Given the description of an element on the screen output the (x, y) to click on. 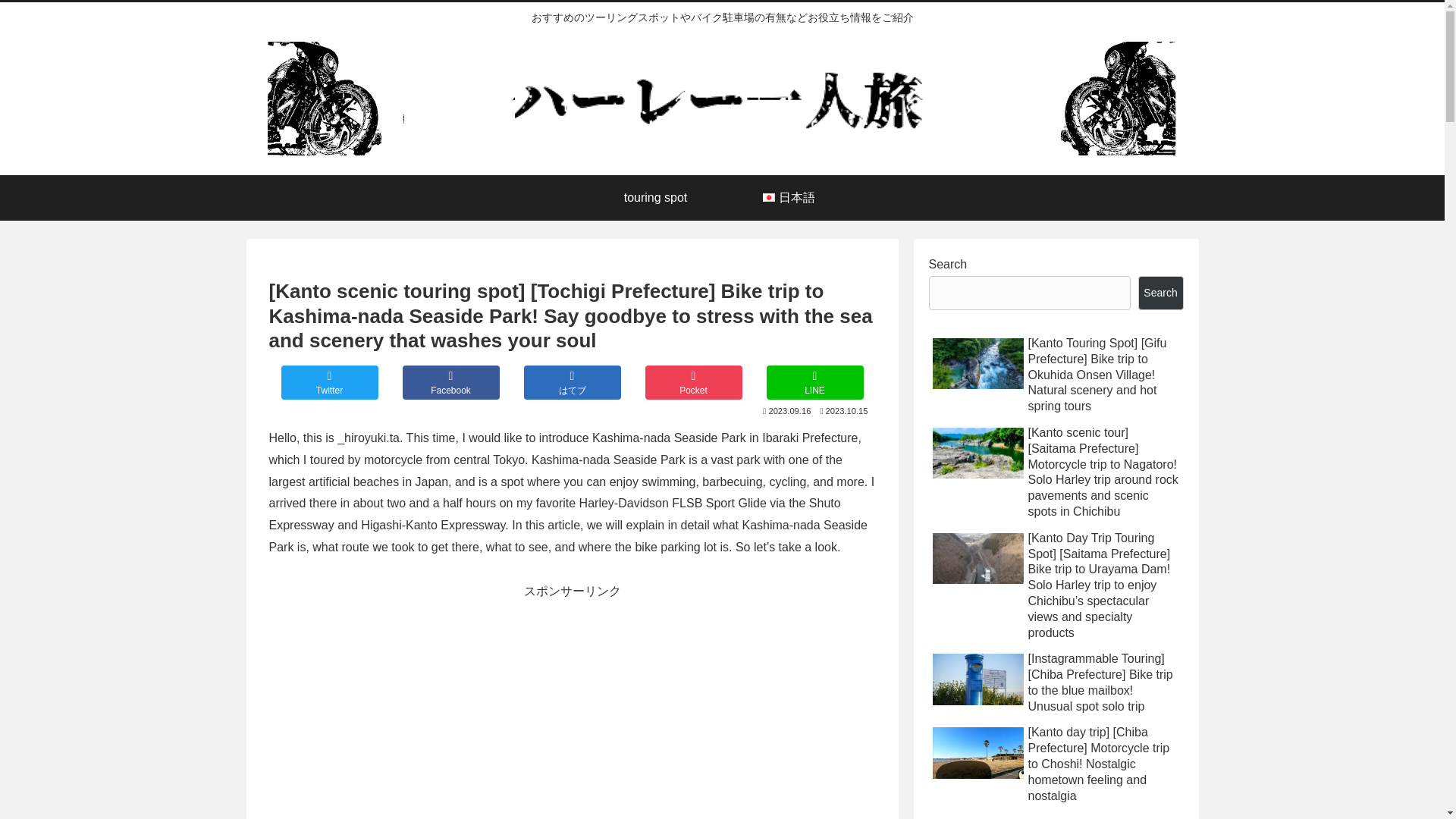
LINE (814, 382)
Facebook (450, 382)
Twitter (329, 382)
Search (1159, 293)
touring spot (655, 197)
Pocket (693, 382)
Advertisement (571, 707)
